Given the description of an element on the screen output the (x, y) to click on. 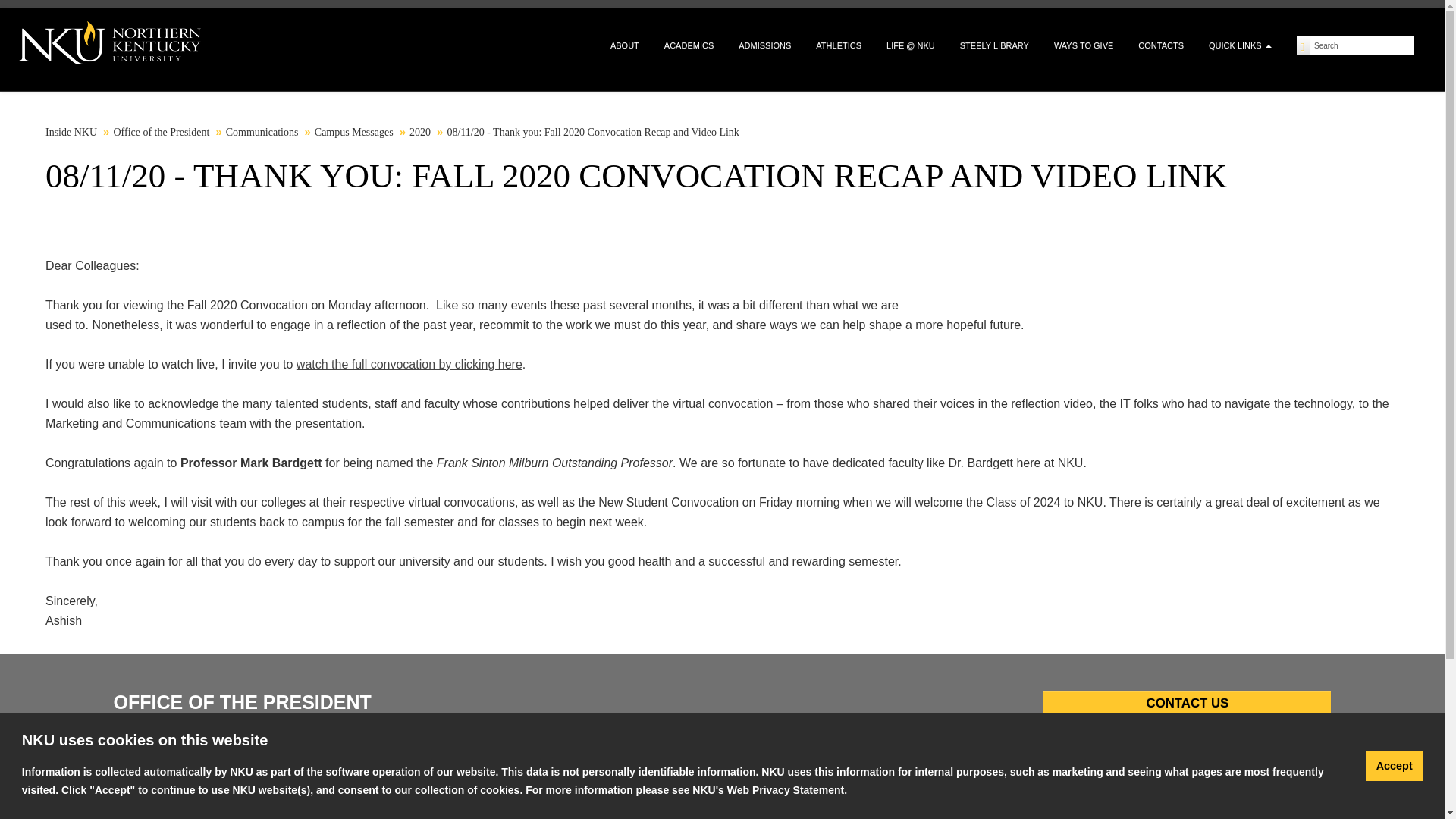
WAYS TO GIVE (1082, 45)
Prospective Students (71, 789)
watch the full convocation by clicking here (409, 364)
Inside NKU (71, 132)
CONTACT US (1186, 705)
ATHLETICS (838, 45)
Search (1361, 45)
CONTACTS (1161, 45)
Accept (1393, 766)
Parents (155, 789)
